Given the description of an element on the screen output the (x, y) to click on. 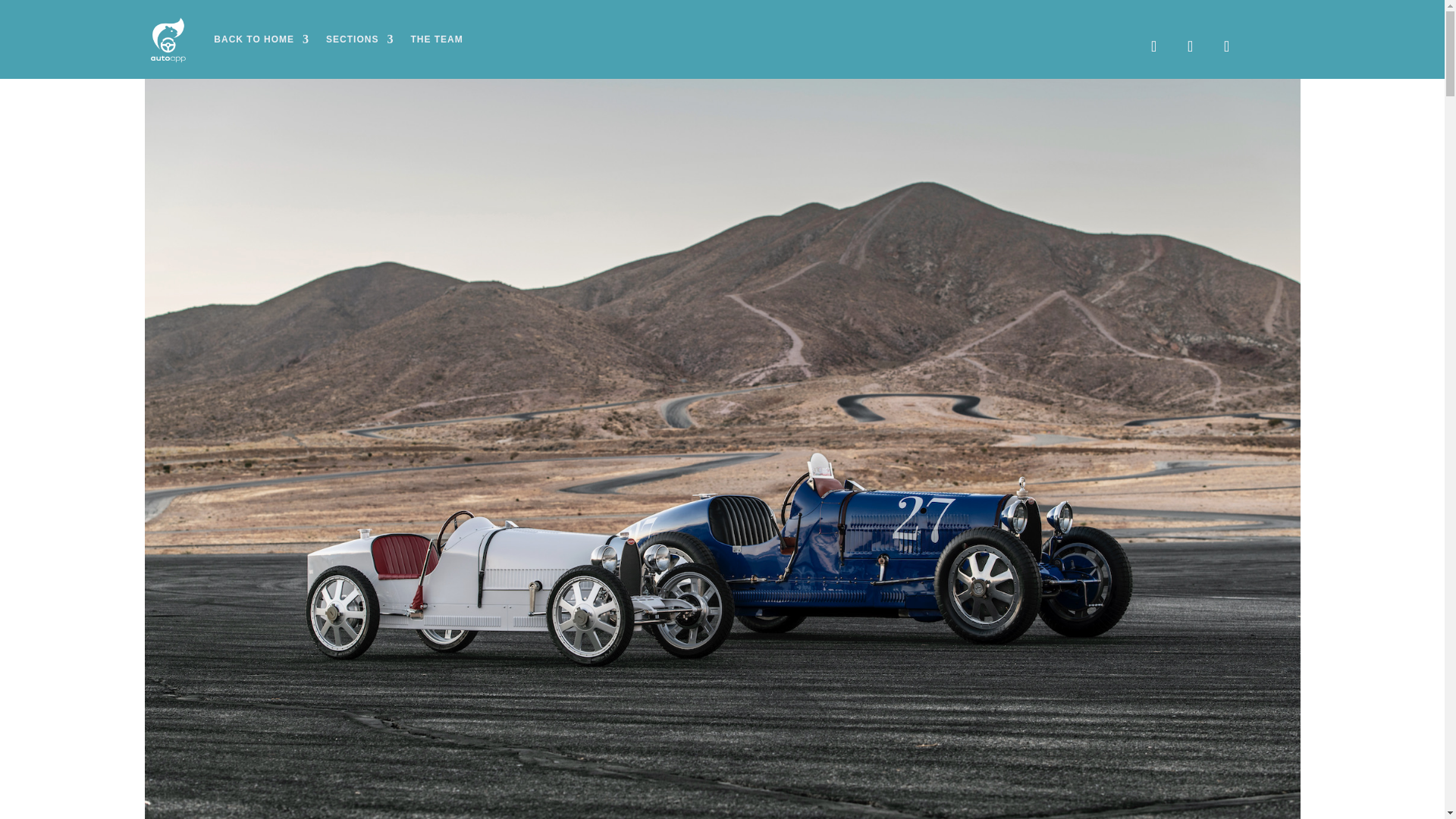
BACK TO HOME (261, 39)
Follow on Youtube (1226, 46)
Follow on Facebook (1153, 46)
Follow on Instagram (1189, 46)
SECTIONS (359, 39)
